Given the description of an element on the screen output the (x, y) to click on. 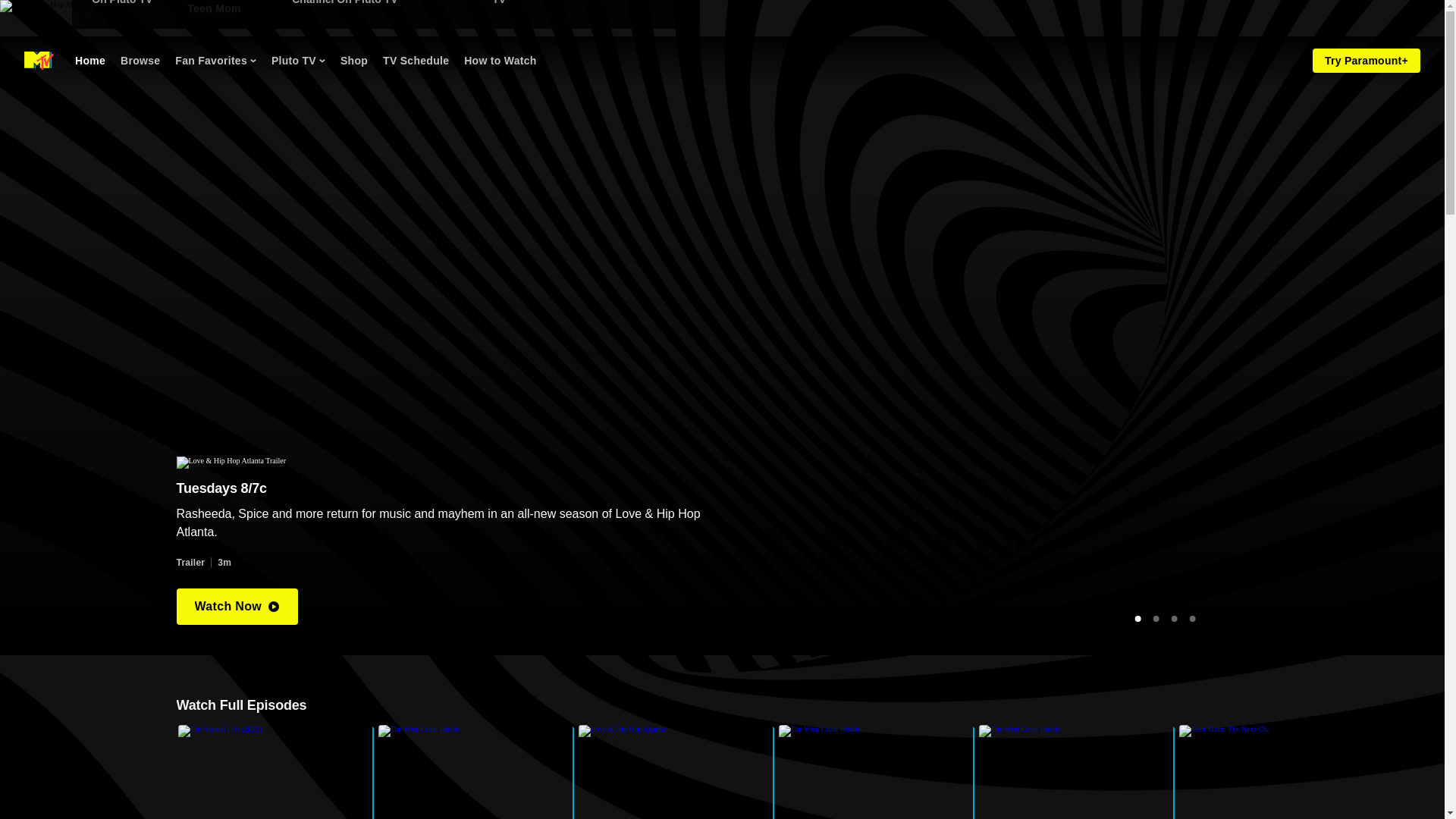
How to Watch (499, 60)
false (474, 771)
Watch MTV's The Challenge Channel On Pluto TV (1075, 771)
Chevron-icon (382, 6)
Teen Mom (582, 6)
Watch Now (253, 60)
Fan Favorites (1275, 771)
TV Schedule (213, 7)
Watch-icon (237, 606)
Pluto TV (215, 60)
Watch MTV's Jersey Shore Channel On Pluto TV (415, 60)
